Given the description of an element on the screen output the (x, y) to click on. 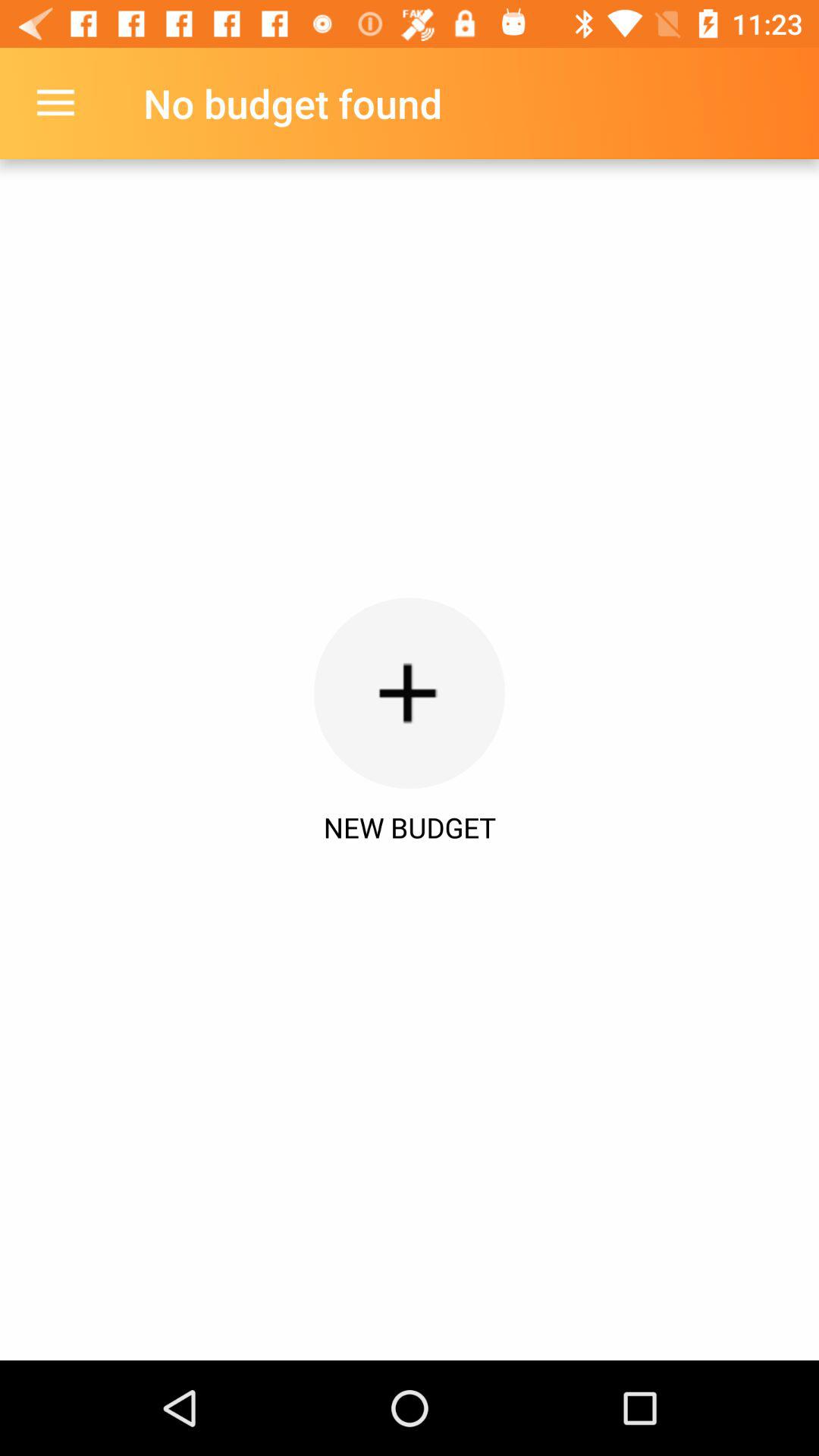
swipe to the new budget (409, 827)
